Given the description of an element on the screen output the (x, y) to click on. 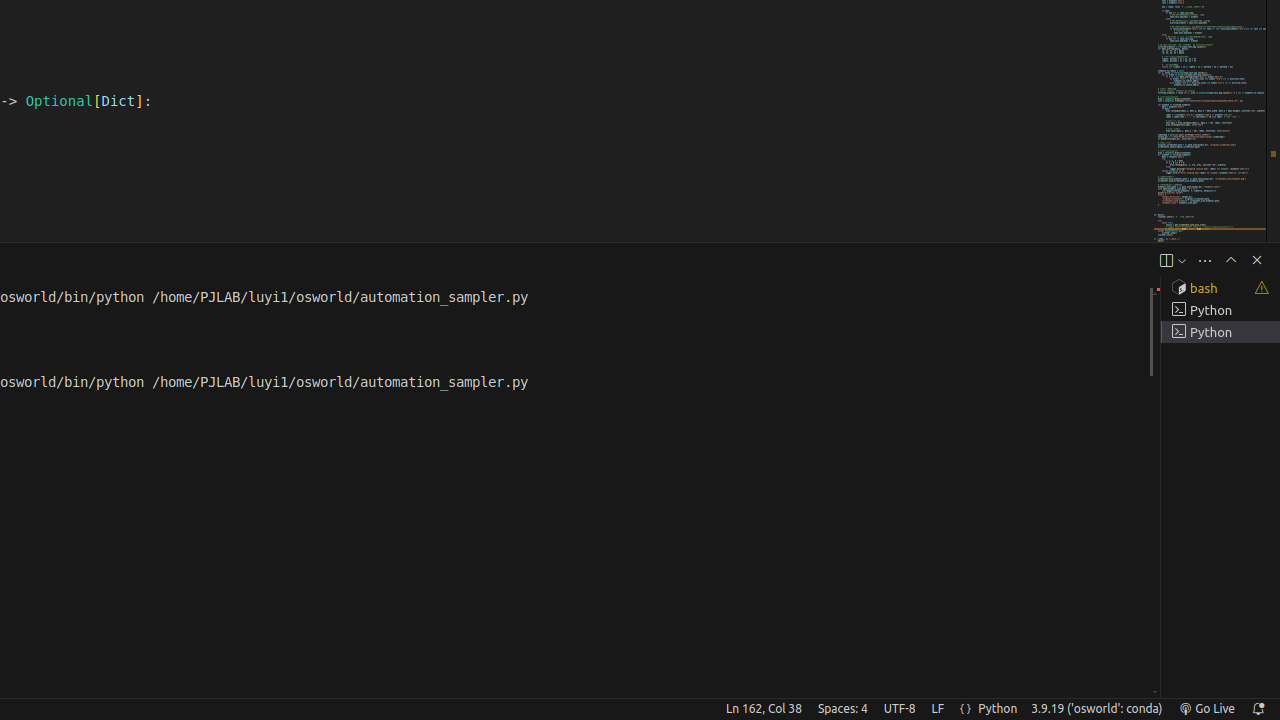
Notifications Element type: push-button (1258, 709)
broadcast Go Live, Click to run live server Element type: push-button (1206, 709)
LF Element type: push-button (938, 709)
Hide Panel Element type: push-button (1257, 260)
3.9.19 ('osworld': conda), ~/anaconda3/envs/osworld/bin/python Element type: push-button (1097, 709)
